Given the description of an element on the screen output the (x, y) to click on. 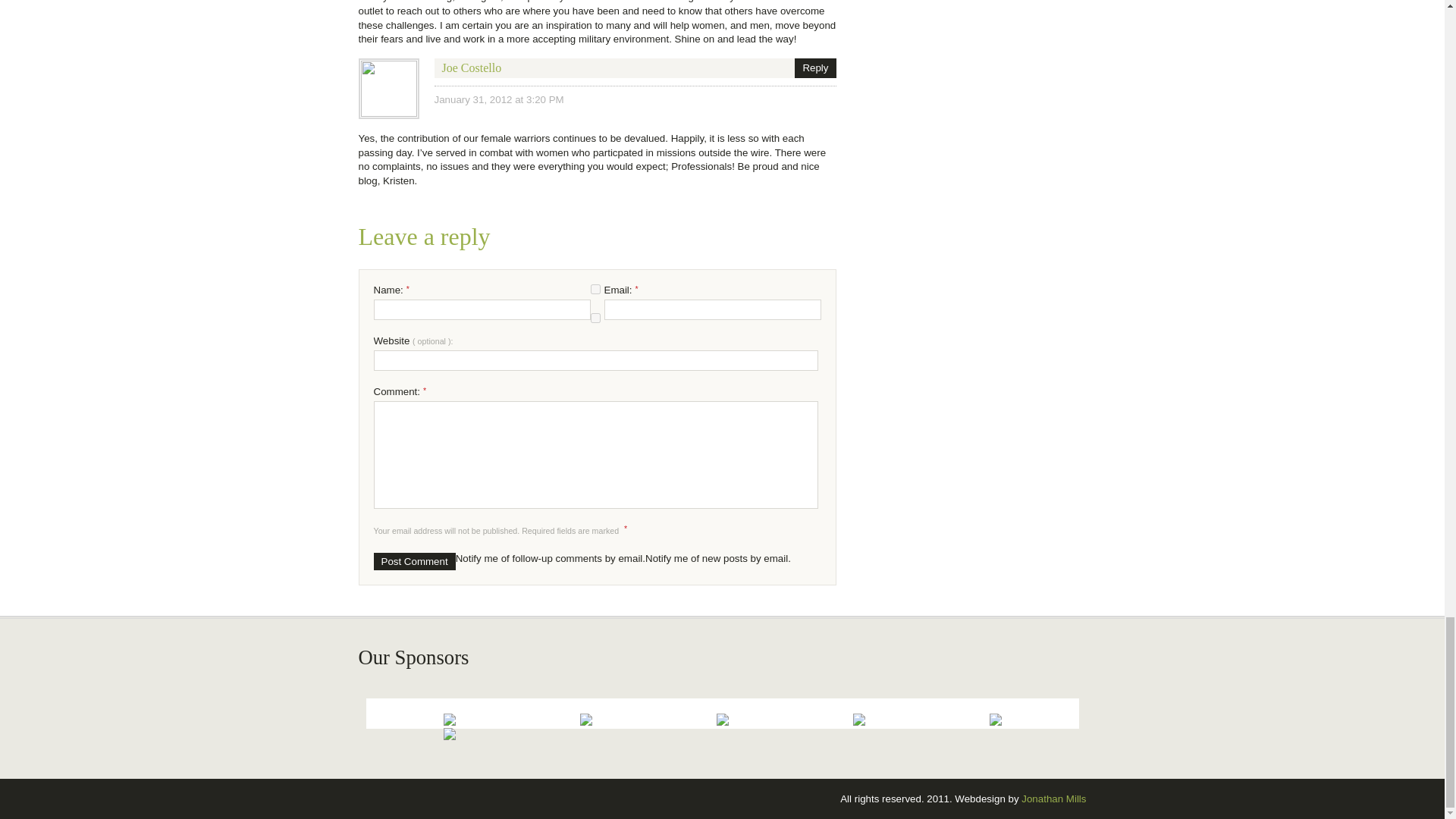
Post Comment (413, 561)
Post Comment (413, 561)
subscribe (594, 289)
subscribe (594, 317)
Reply (814, 67)
